Given the description of an element on the screen output the (x, y) to click on. 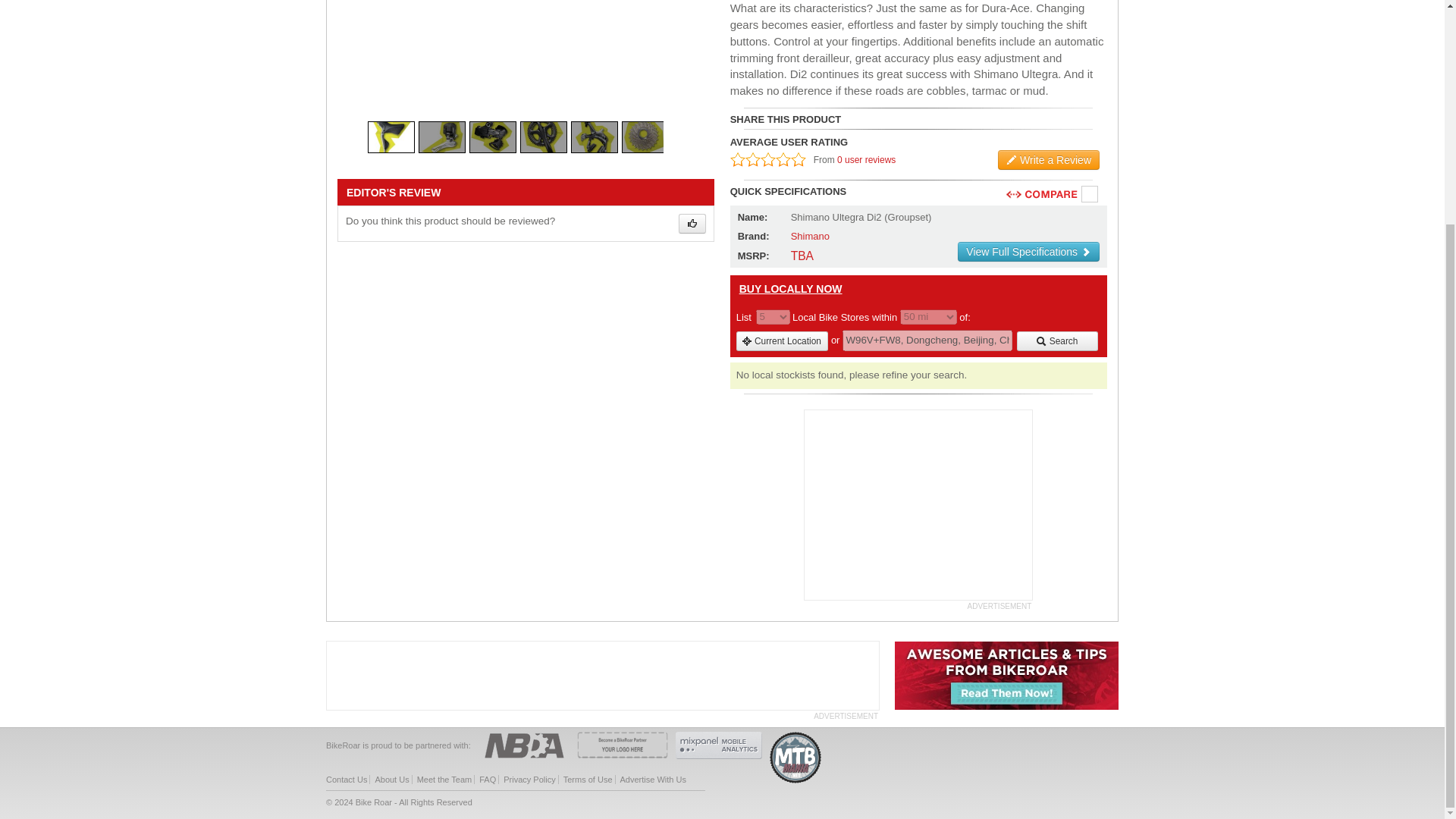
Compare (1090, 194)
Check out the latest articles and tips (1006, 706)
Terms of Use (587, 778)
About Us (391, 778)
Follow BikeRoar on Twitter (1085, 786)
Current Location (782, 341)
Shimano (809, 235)
Advertise With Us (652, 778)
FAQ (487, 778)
Privacy Policy (528, 778)
